Given the description of an element on the screen output the (x, y) to click on. 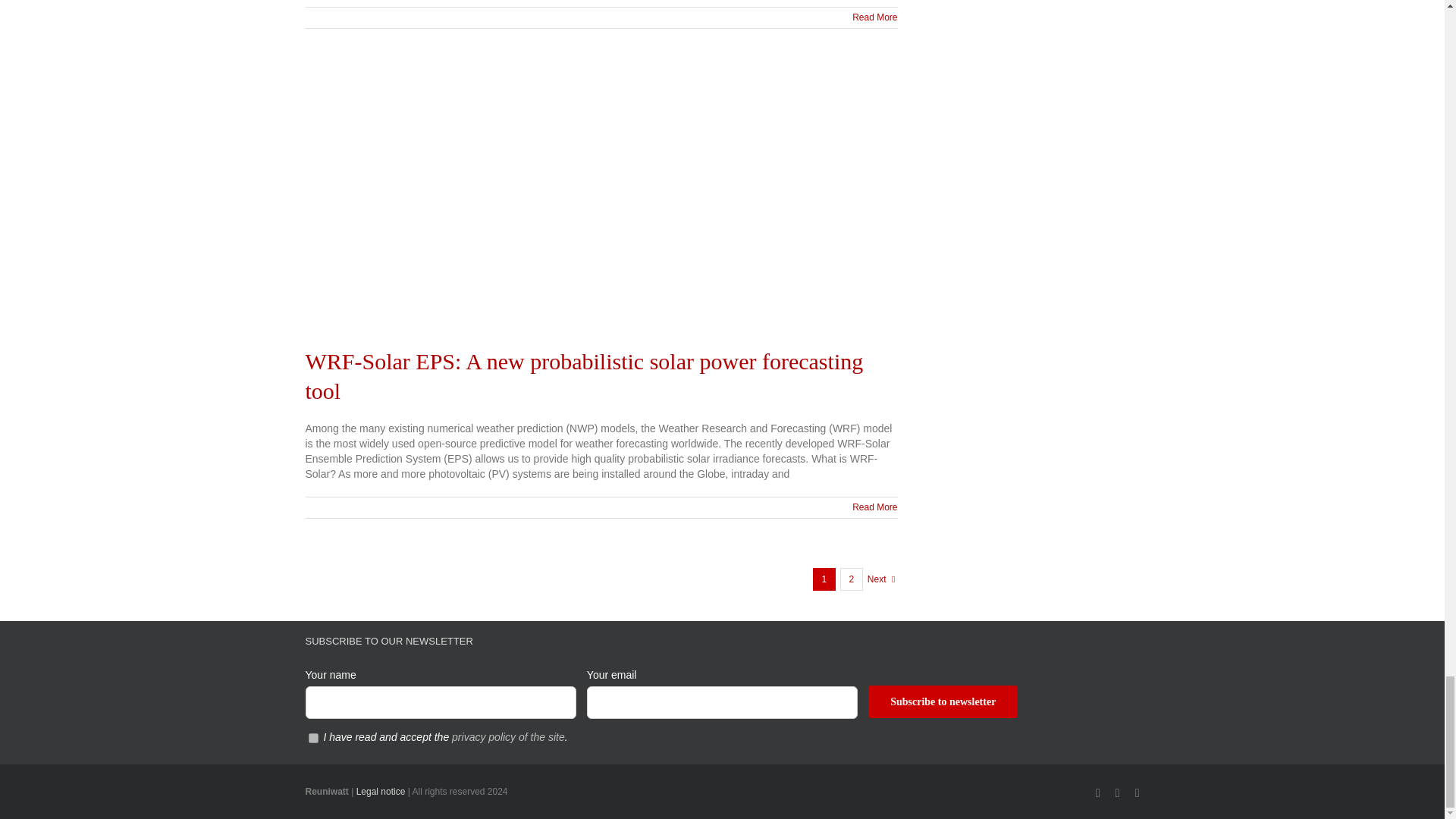
1 (312, 737)
Subscribe to newsletter (942, 701)
